Given the description of an element on the screen output the (x, y) to click on. 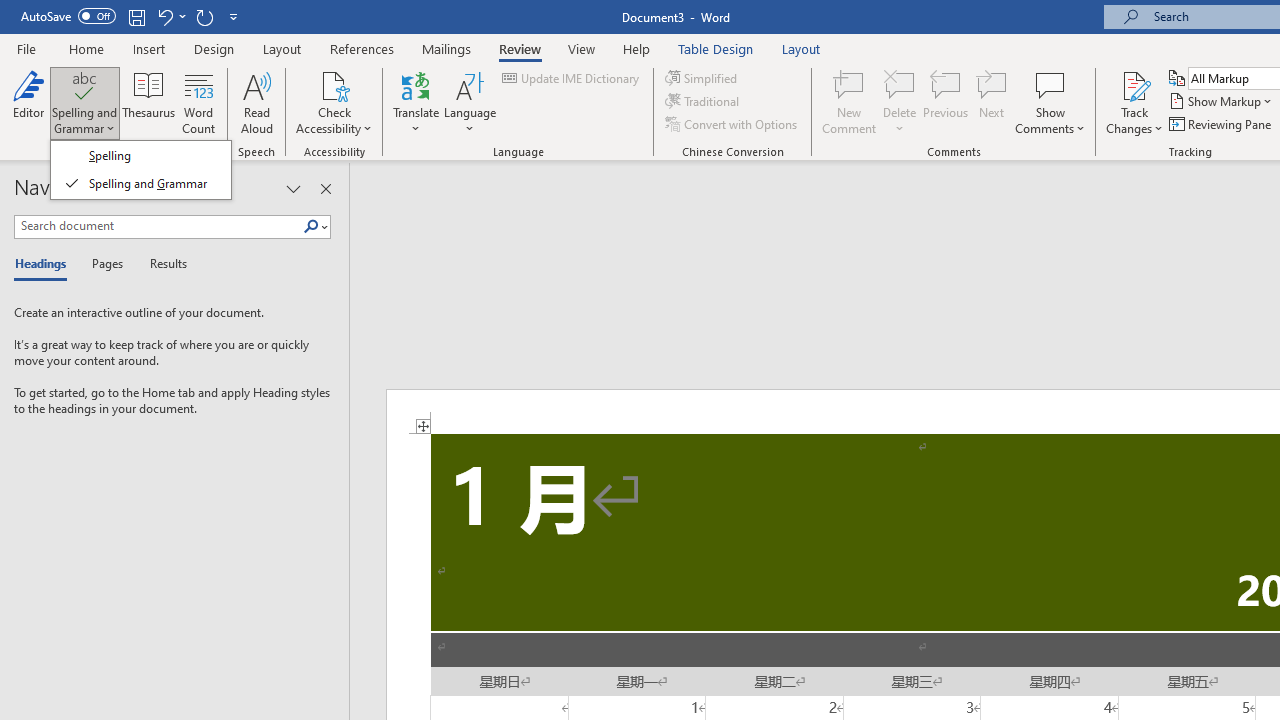
Simplified (702, 78)
Reviewing Pane (1221, 124)
Show Comments (1050, 84)
Word Count (198, 102)
Track Changes (1134, 102)
Check Accessibility (334, 84)
